Given the description of an element on the screen output the (x, y) to click on. 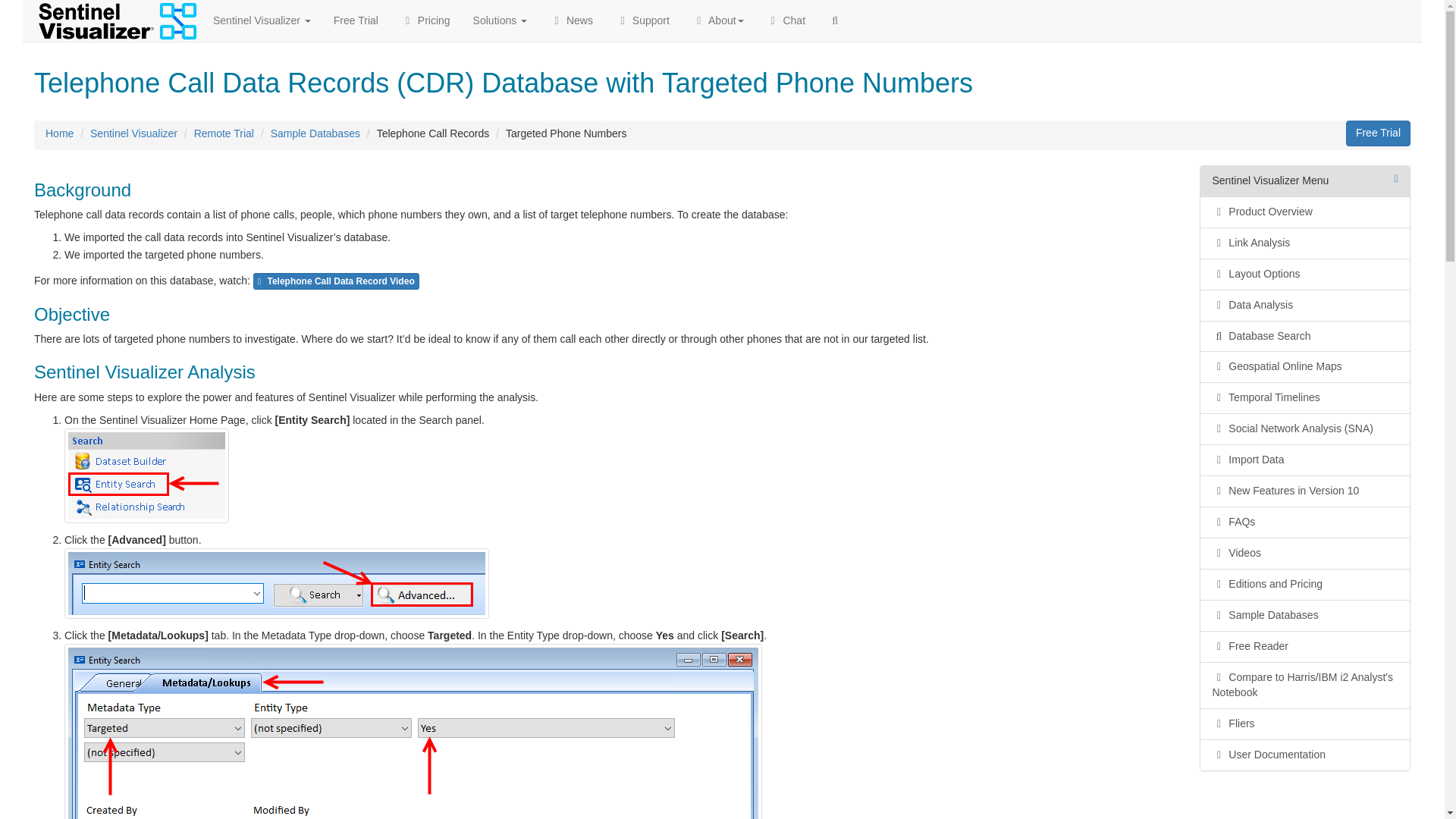
Solutions (499, 20)
Pricing (425, 20)
Entity Search (146, 475)
Support (642, 20)
Free Trial (355, 20)
Entity Search Advanced (276, 583)
Entity Search Metadata Lookups (412, 731)
Sentinel Visualizer (261, 20)
News (571, 20)
